Given the description of an element on the screen output the (x, y) to click on. 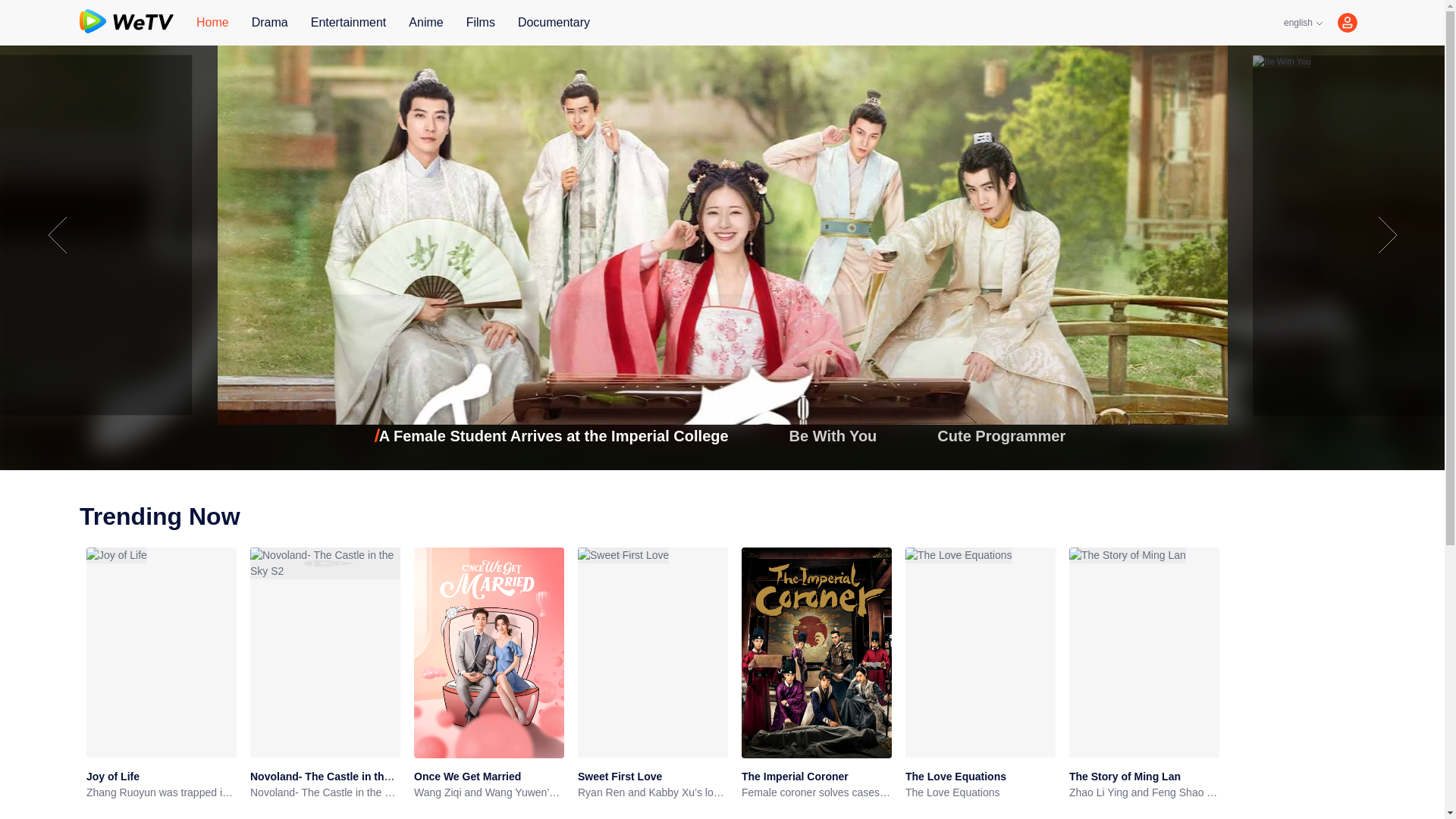
Once We Get Married (467, 776)
Novoland- The Castle in the Sky S2 (339, 776)
Joy of Life (112, 776)
The Love Equations (955, 776)
Cute Programmer (1001, 436)
Sweet First Love (620, 776)
The Imperial Coroner (794, 776)
The Story of Ming Lan (1124, 776)
Anime (425, 22)
Novoland- The Castle in the Sky S2 (325, 792)
Once We Get Married (467, 776)
The Love Equations (955, 776)
Sweet First Love (620, 776)
A Female Student Arrives at the Imperial College (553, 436)
Zhang Ruoyun was trapped in court with a risky life (160, 792)
